Given the description of an element on the screen output the (x, y) to click on. 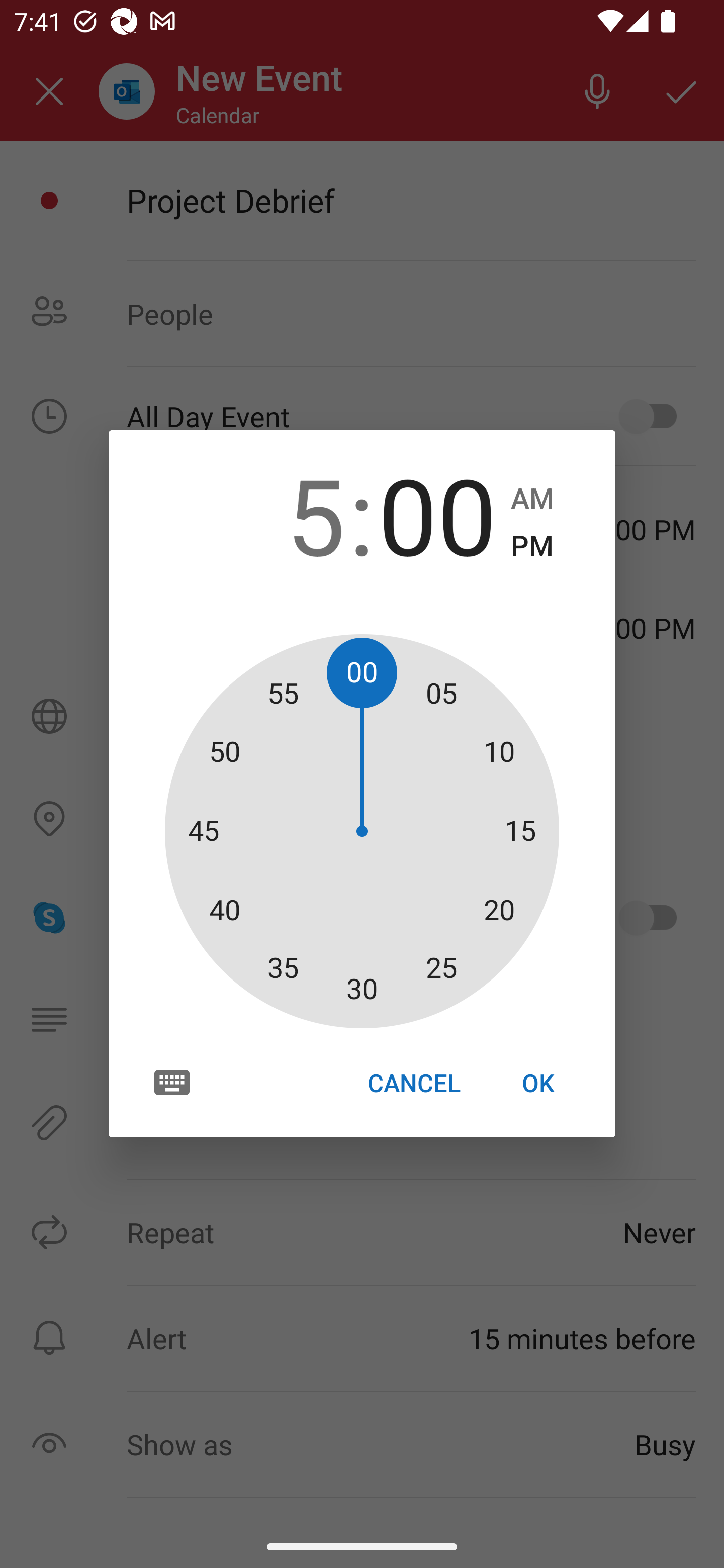
5 (285, 513)
00 (436, 513)
AM (532, 498)
PM (532, 546)
CANCEL (413, 1082)
OK (537, 1082)
Switch to text input mode for the time input. (171, 1081)
